Given the description of an element on the screen output the (x, y) to click on. 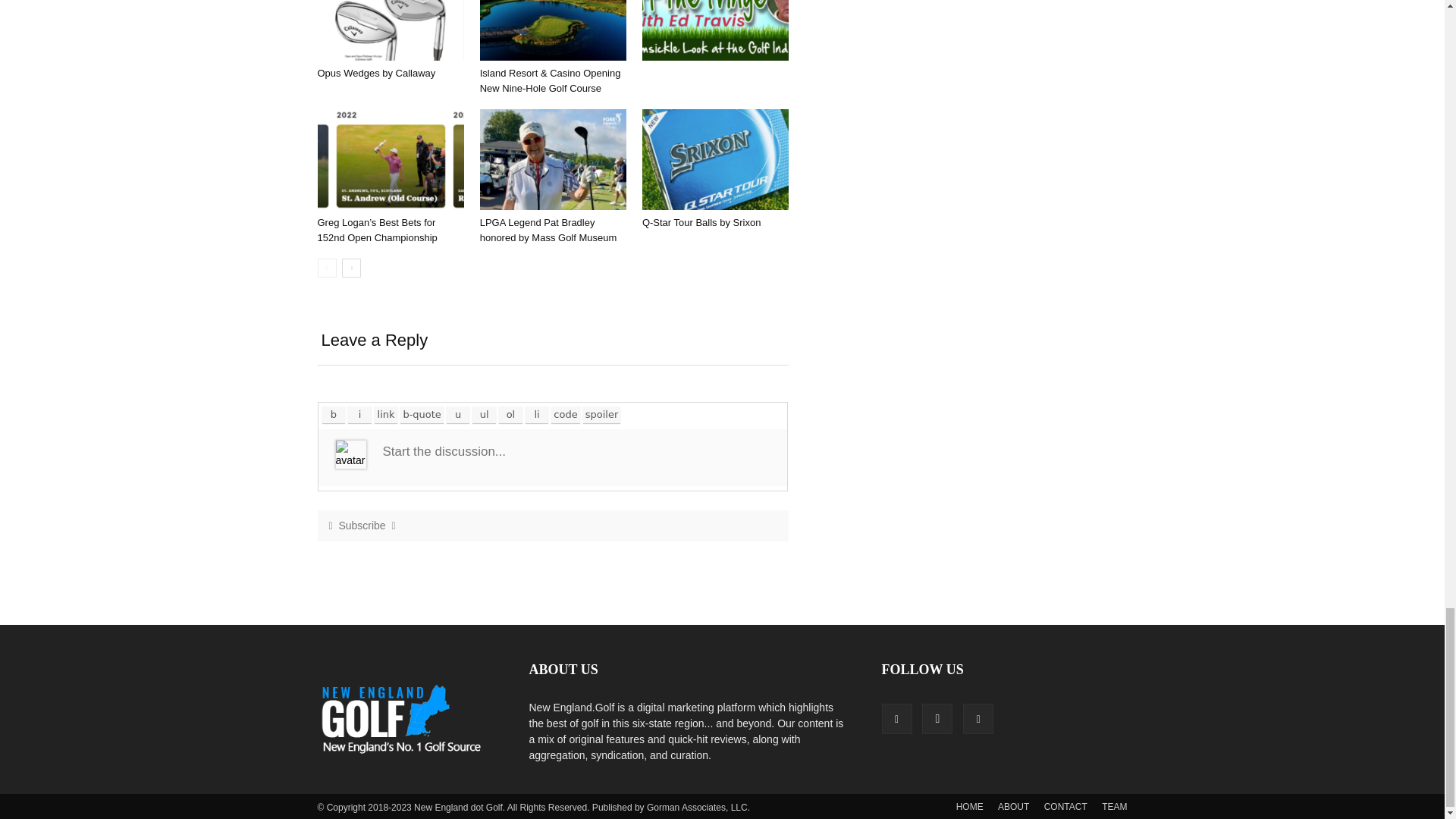
b-quote (421, 414)
U (458, 414)
ul (483, 414)
ol (510, 414)
Opus Wedges by Callaway (376, 72)
b (333, 414)
spoiler (602, 414)
code (565, 414)
Opus Wedges by Callaway (390, 30)
li (536, 414)
i (359, 414)
link (385, 414)
